Given the description of an element on the screen output the (x, y) to click on. 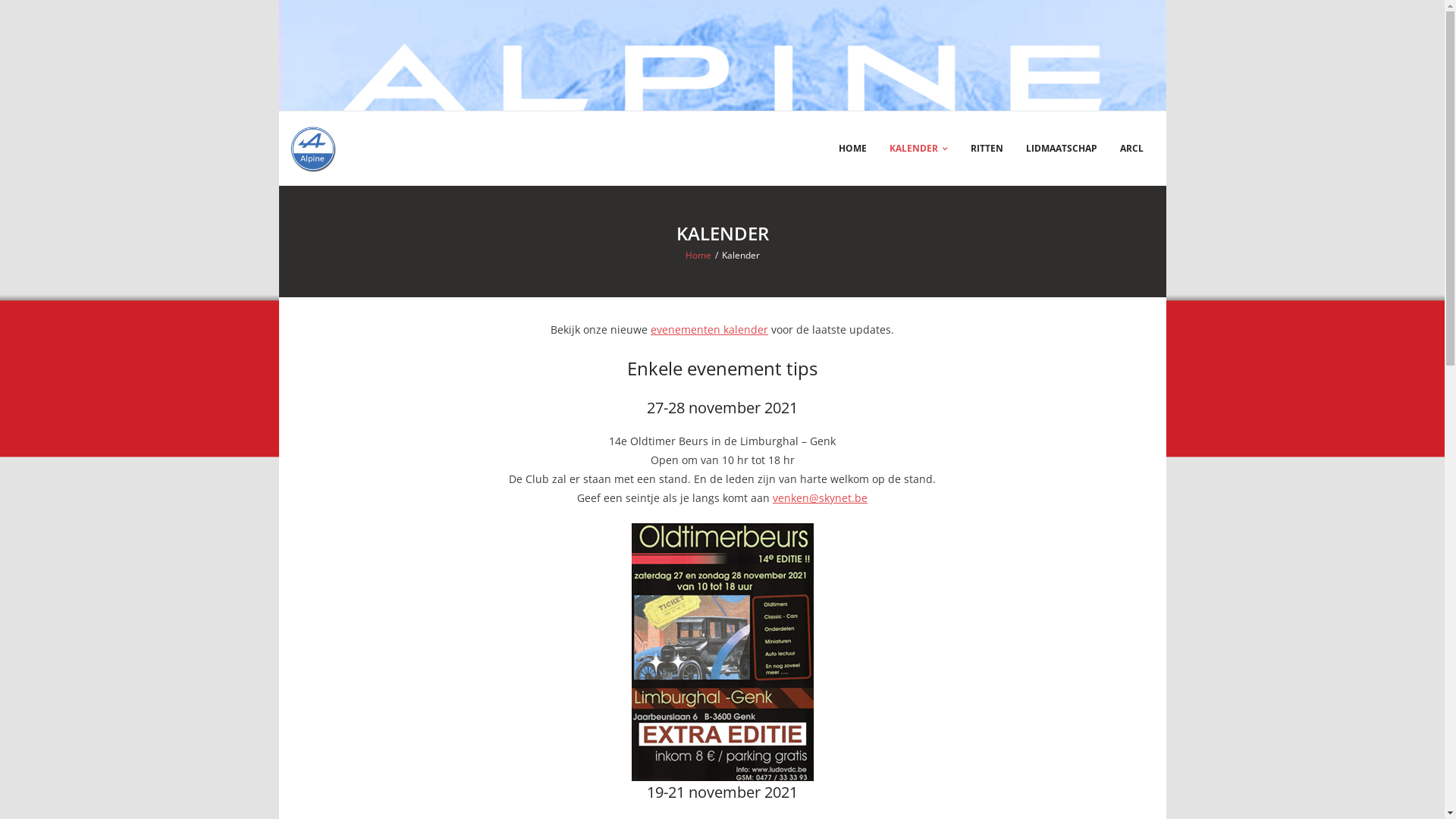
evenementen kalender Element type: text (709, 329)
KALENDER Element type: text (918, 148)
ARCL Element type: text (1131, 148)
Home Element type: text (698, 254)
venken@skynet.be Element type: text (819, 497)
LIDMAATSCHAP Element type: text (1061, 148)
RITTEN Element type: text (985, 148)
HOME Element type: text (851, 148)
